Given the description of an element on the screen output the (x, y) to click on. 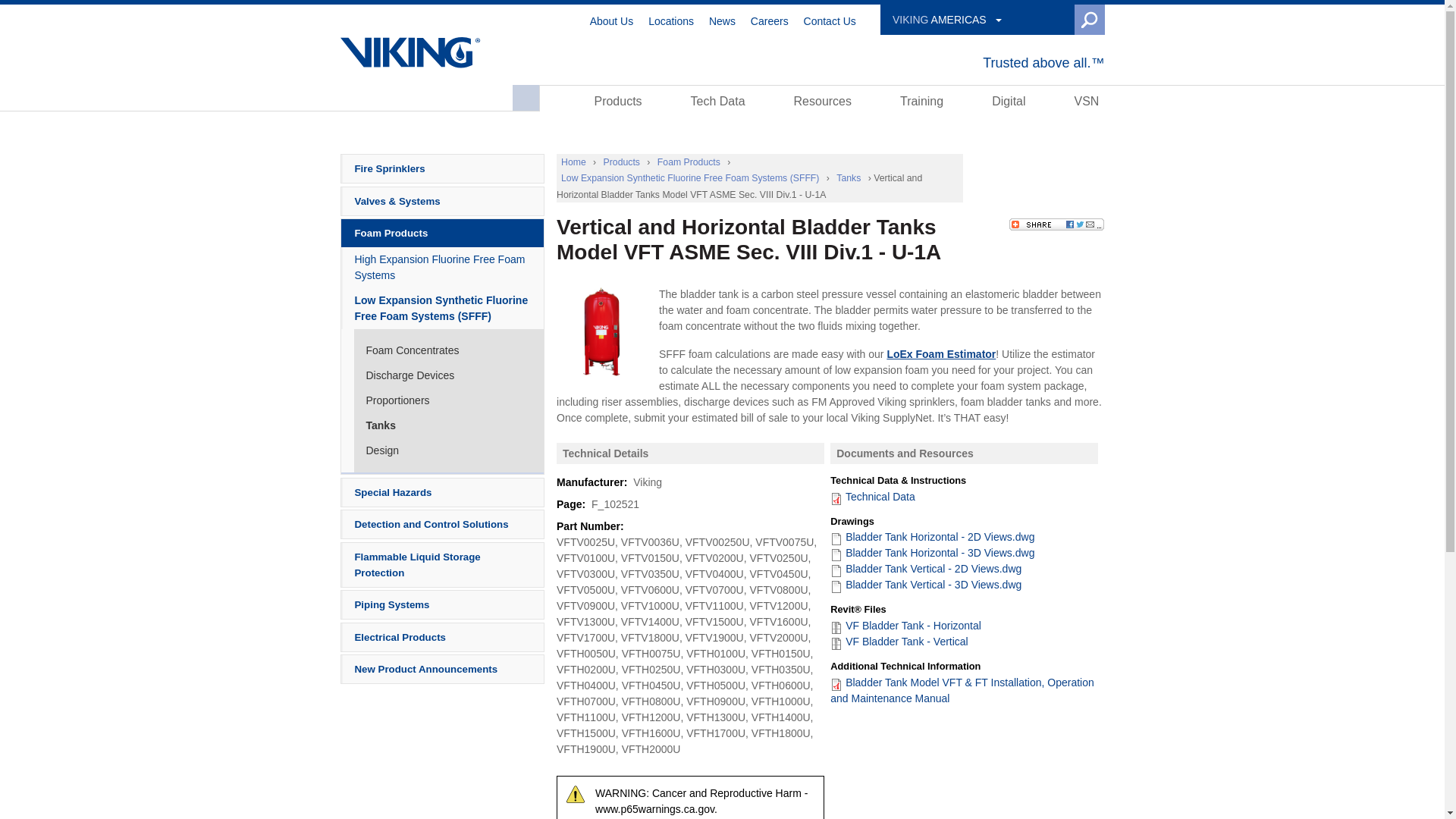
5.35 MB DWG (931, 552)
News (722, 20)
About Us (611, 20)
Search (1057, 19)
Locations (670, 20)
Viking Group Inc. (409, 52)
1.34 MB DWG (925, 568)
Careers (770, 20)
1.54 MB DWG (931, 536)
647.2 KB PDF (871, 495)
